Given the description of an element on the screen output the (x, y) to click on. 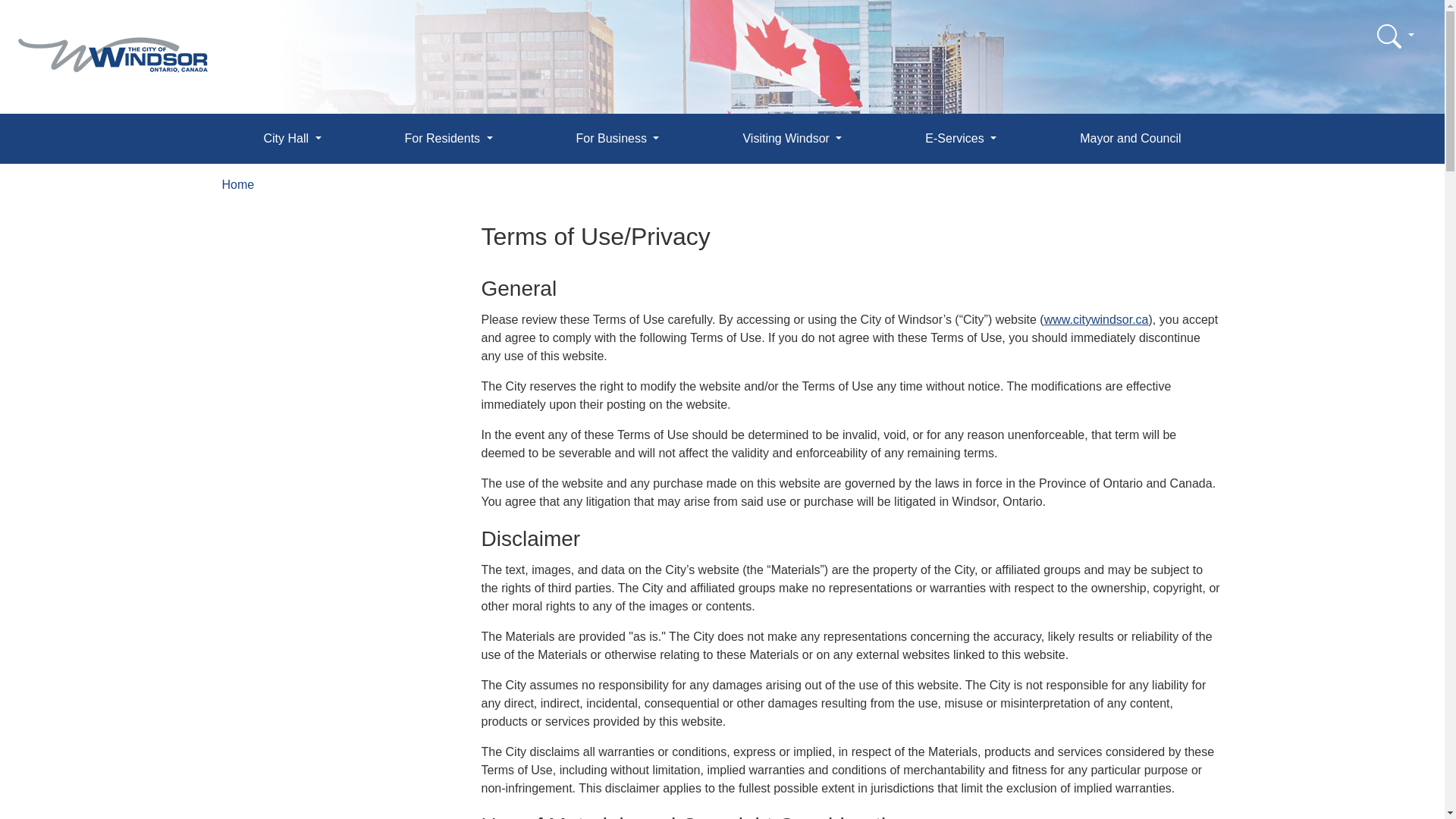
City of Windsor (112, 43)
For Residents (448, 138)
Search (1395, 36)
City Hall (291, 138)
City Hall (291, 138)
